Given the description of an element on the screen output the (x, y) to click on. 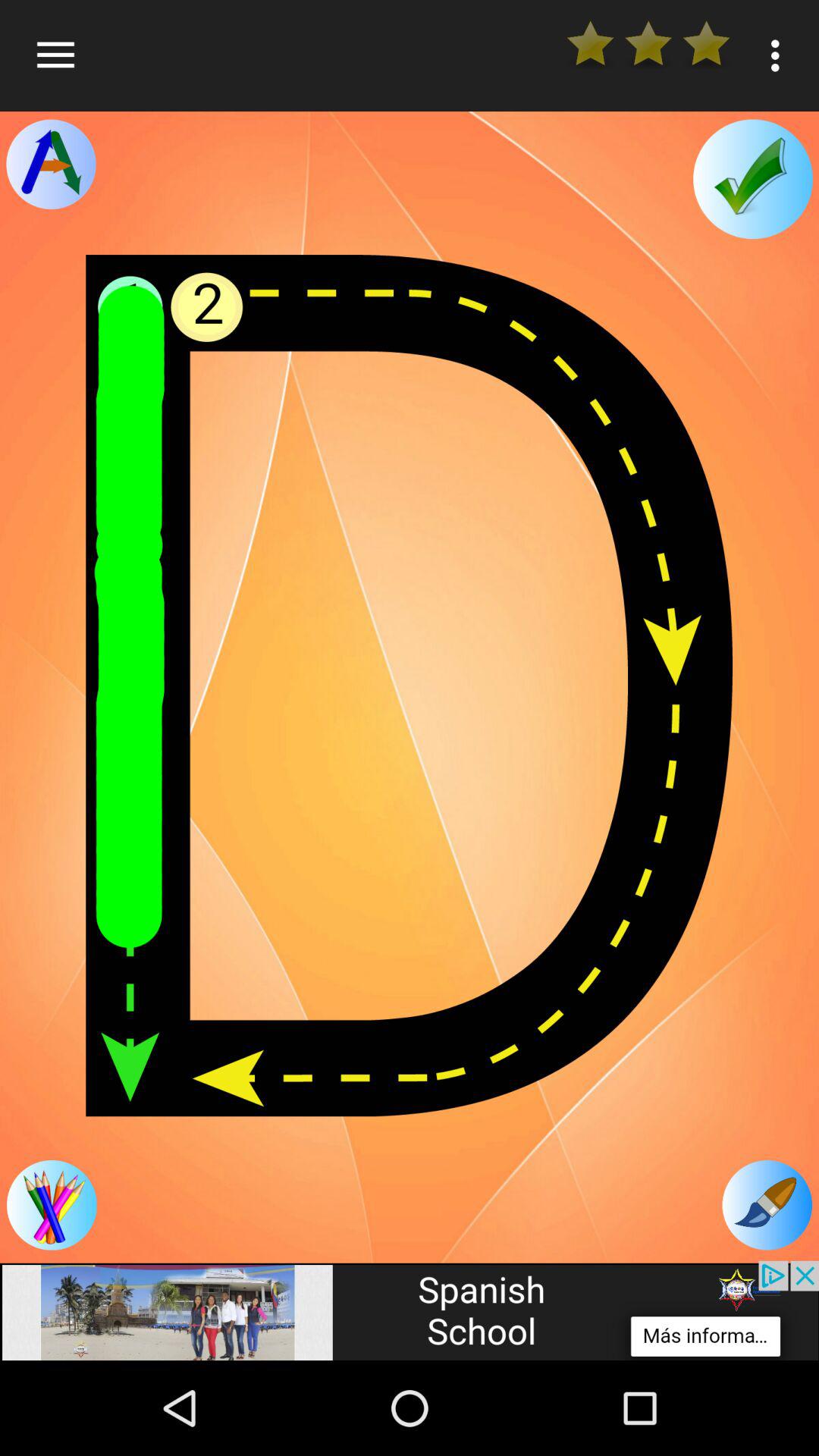
direction (51, 164)
